Given the description of an element on the screen output the (x, y) to click on. 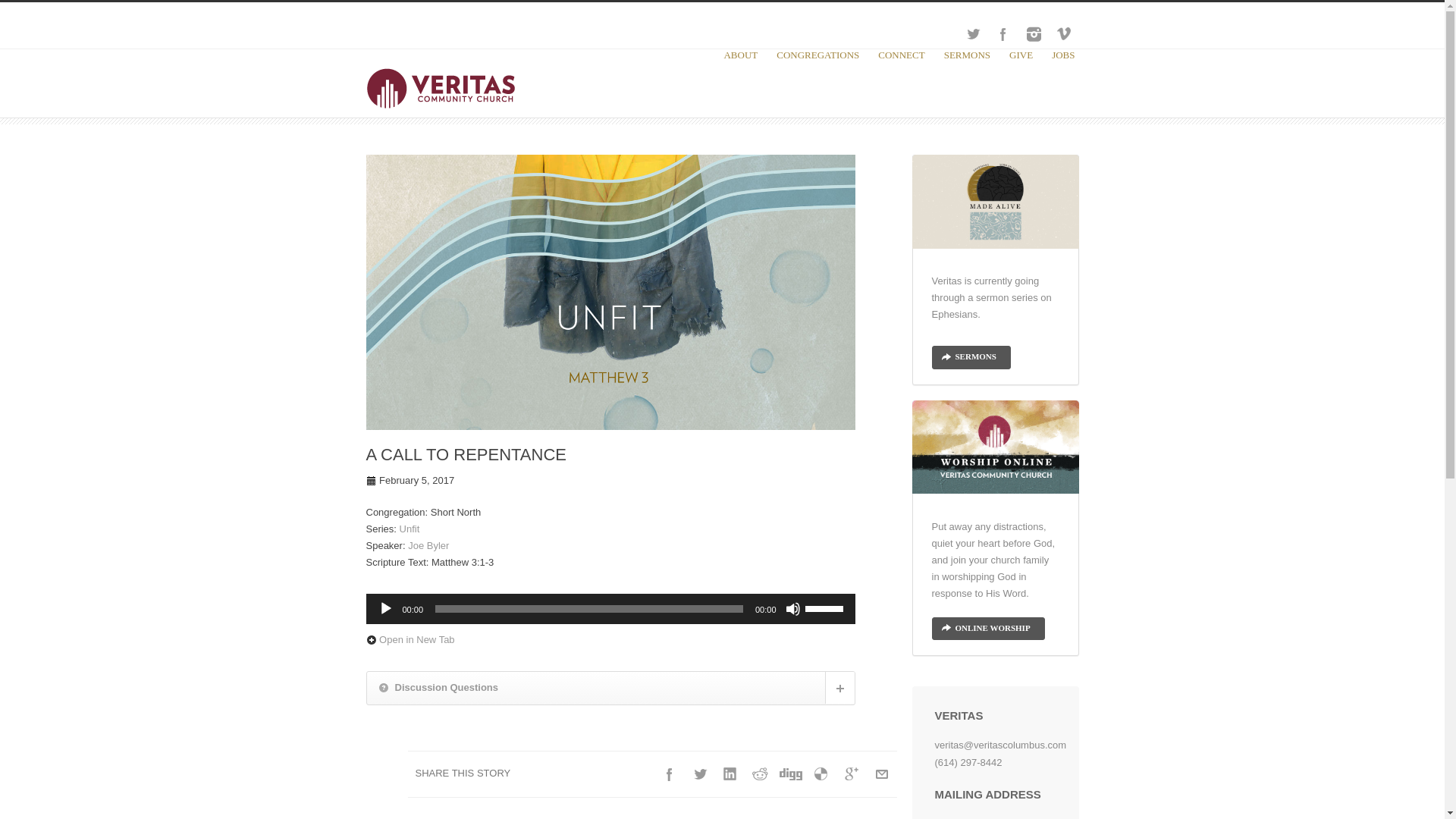
Facebook (1002, 33)
CONGREGATIONS (818, 83)
Instagram (1032, 33)
Vimeo (1063, 33)
Twitter (971, 33)
Play (385, 608)
Mute (793, 608)
